Given the description of an element on the screen output the (x, y) to click on. 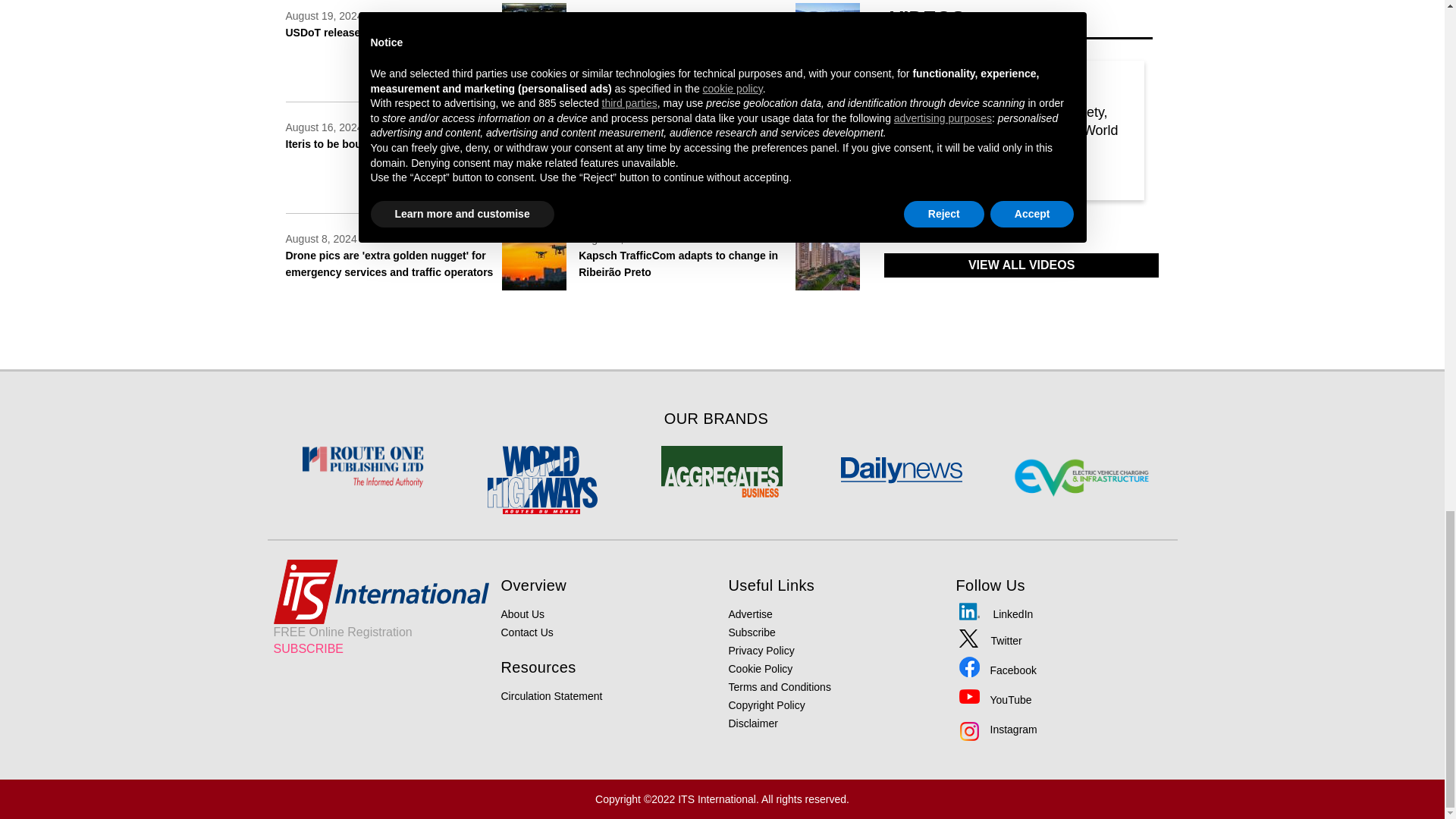
Privacy Policy  (760, 650)
Cookie Policy  (760, 668)
Terms and Conditions  (778, 686)
